Given the description of an element on the screen output the (x, y) to click on. 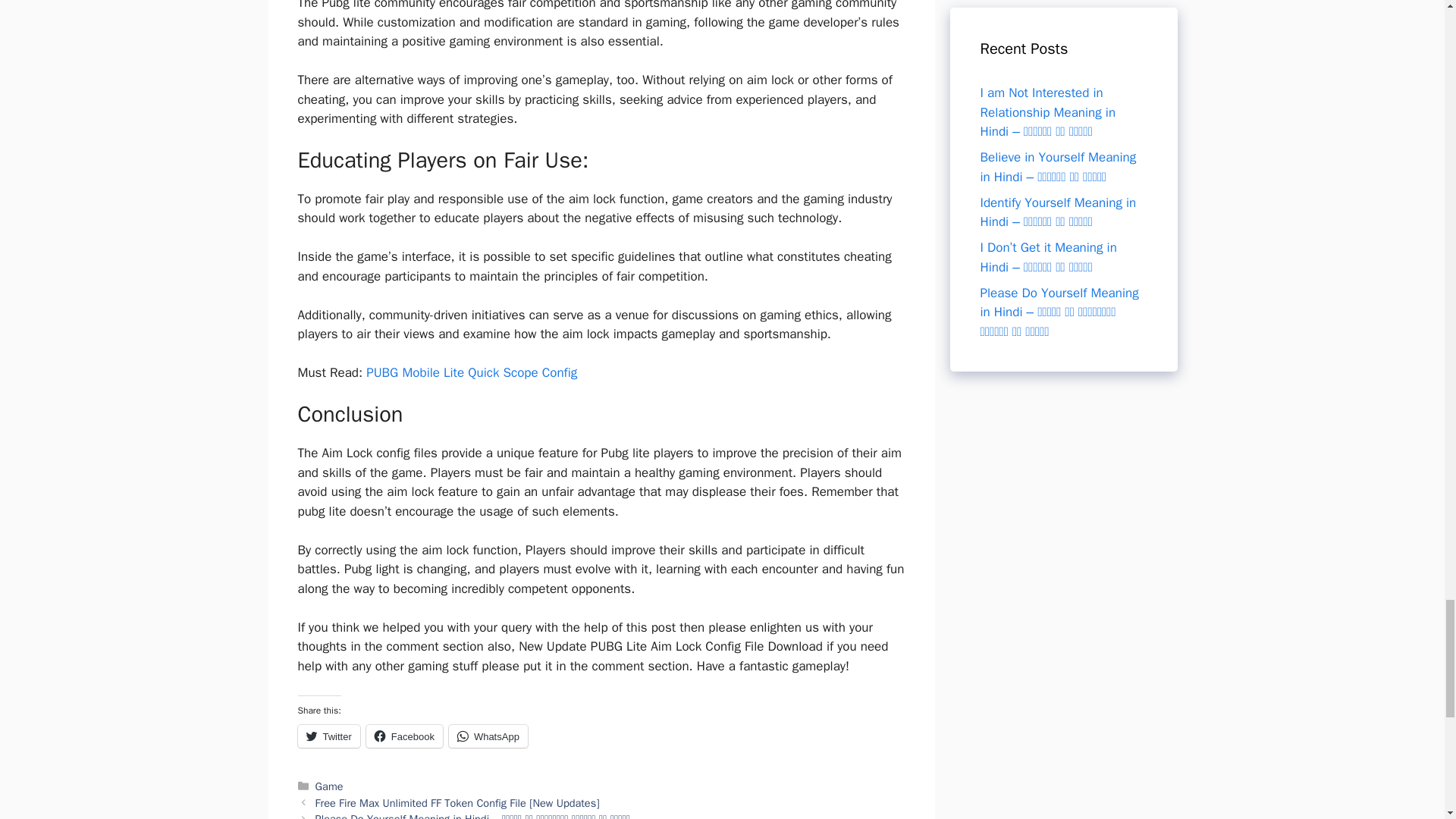
Click to share on Twitter (328, 735)
Facebook (404, 735)
Click to share on Facebook (404, 735)
PUBG Mobile Lite Quick Scope Config (471, 372)
WhatsApp (487, 735)
Game (329, 786)
Twitter (328, 735)
Click to share on WhatsApp (487, 735)
